Given the description of an element on the screen output the (x, y) to click on. 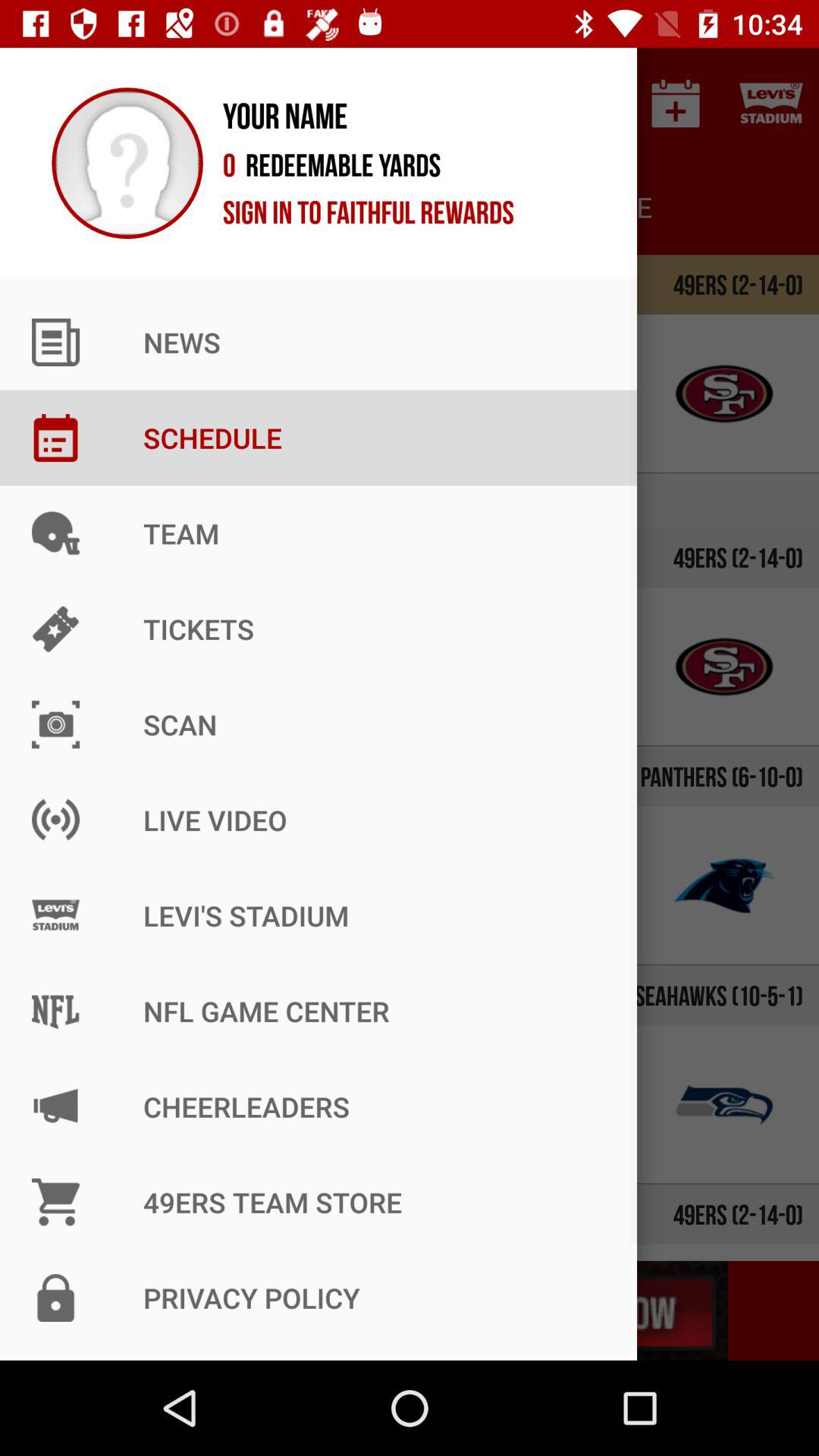
click the button on the left to the icon on the top right corner of the web page (675, 103)
click on the icon left to cheerleaders (94, 1104)
select the icon on the top right corner of the web page (771, 103)
